Given the description of an element on the screen output the (x, y) to click on. 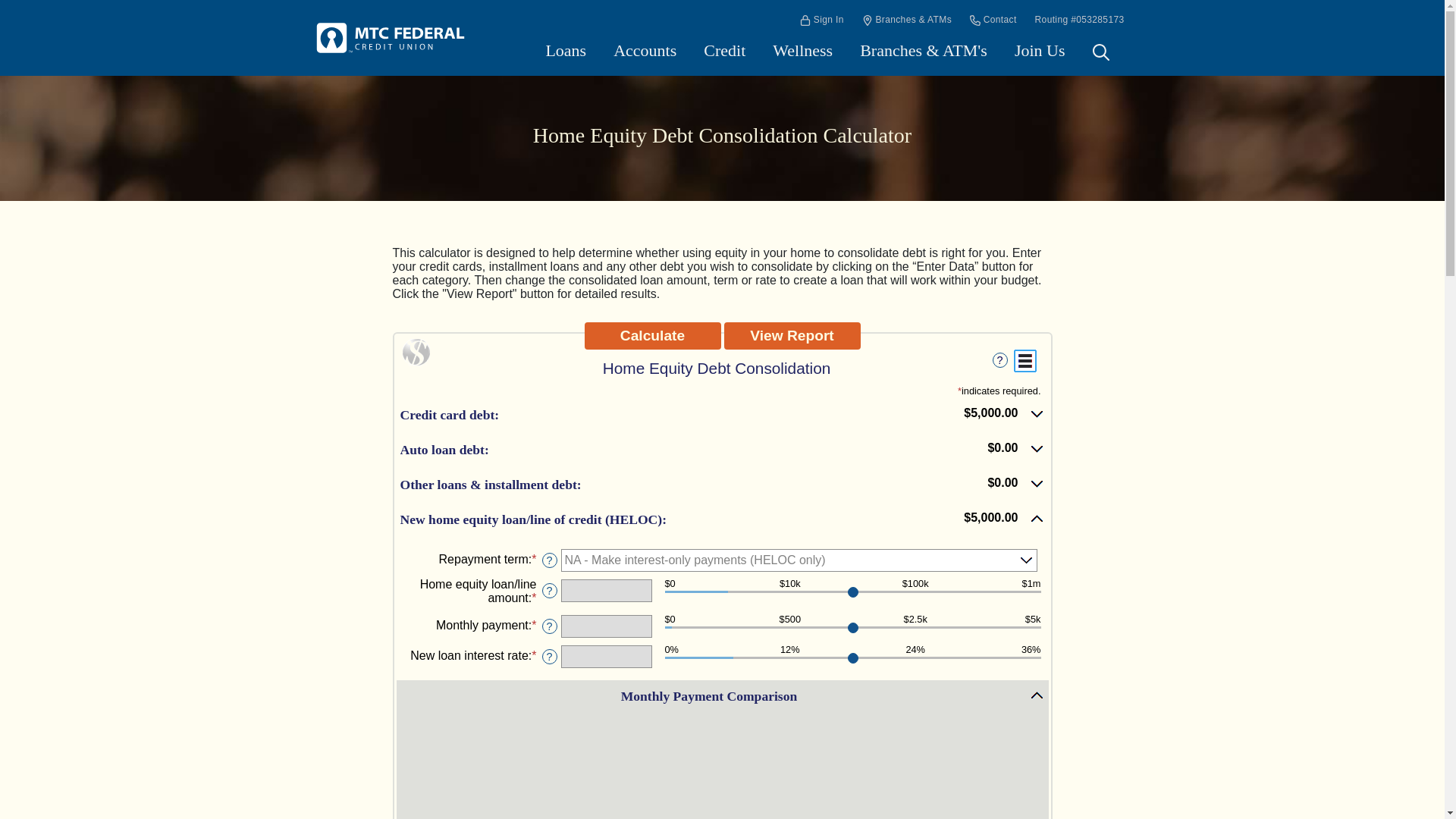
Calculate (651, 335)
Accounts (644, 50)
Wellness (802, 50)
Sign In (821, 19)
Loans (565, 50)
50 (852, 593)
50 (852, 630)
Contact (992, 19)
Credit (724, 50)
View Report (791, 335)
